Given the description of an element on the screen output the (x, y) to click on. 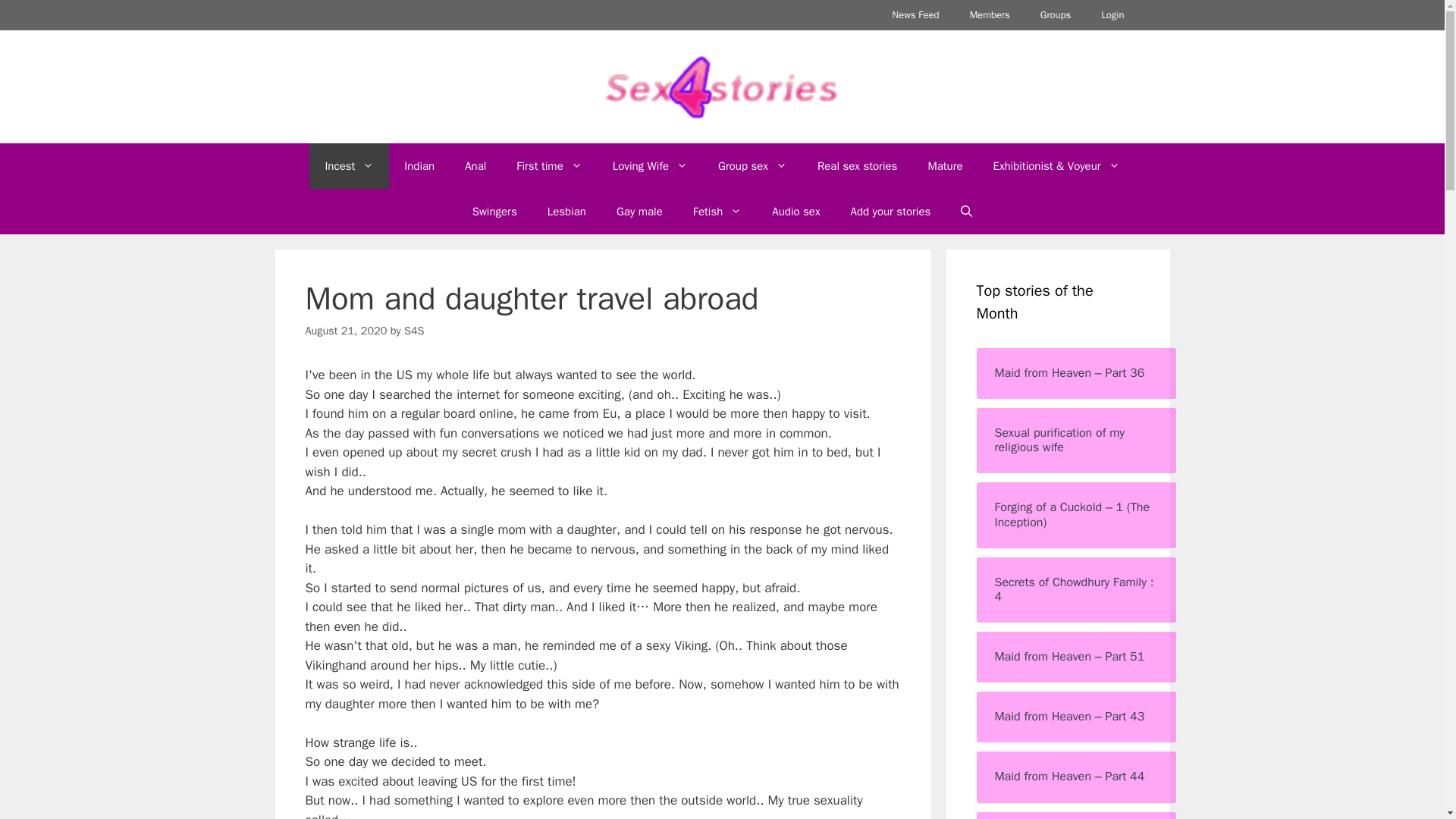
Login (1112, 15)
Members (990, 15)
View all posts by S4S (414, 330)
Groups (1055, 15)
News Feed (916, 15)
